Given the description of an element on the screen output the (x, y) to click on. 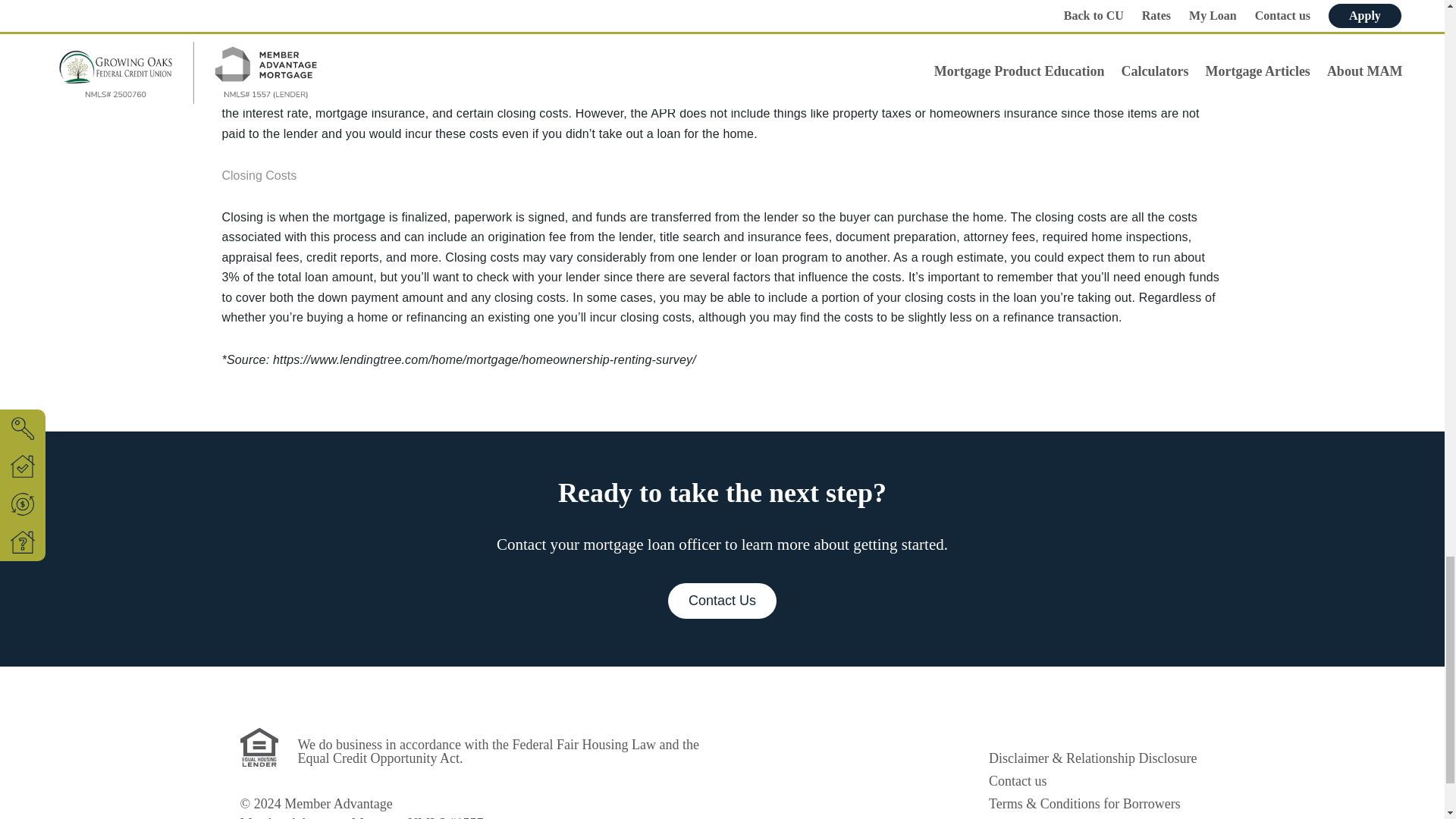
Contact Us (722, 601)
Contact us (1017, 781)
